Given the description of an element on the screen output the (x, y) to click on. 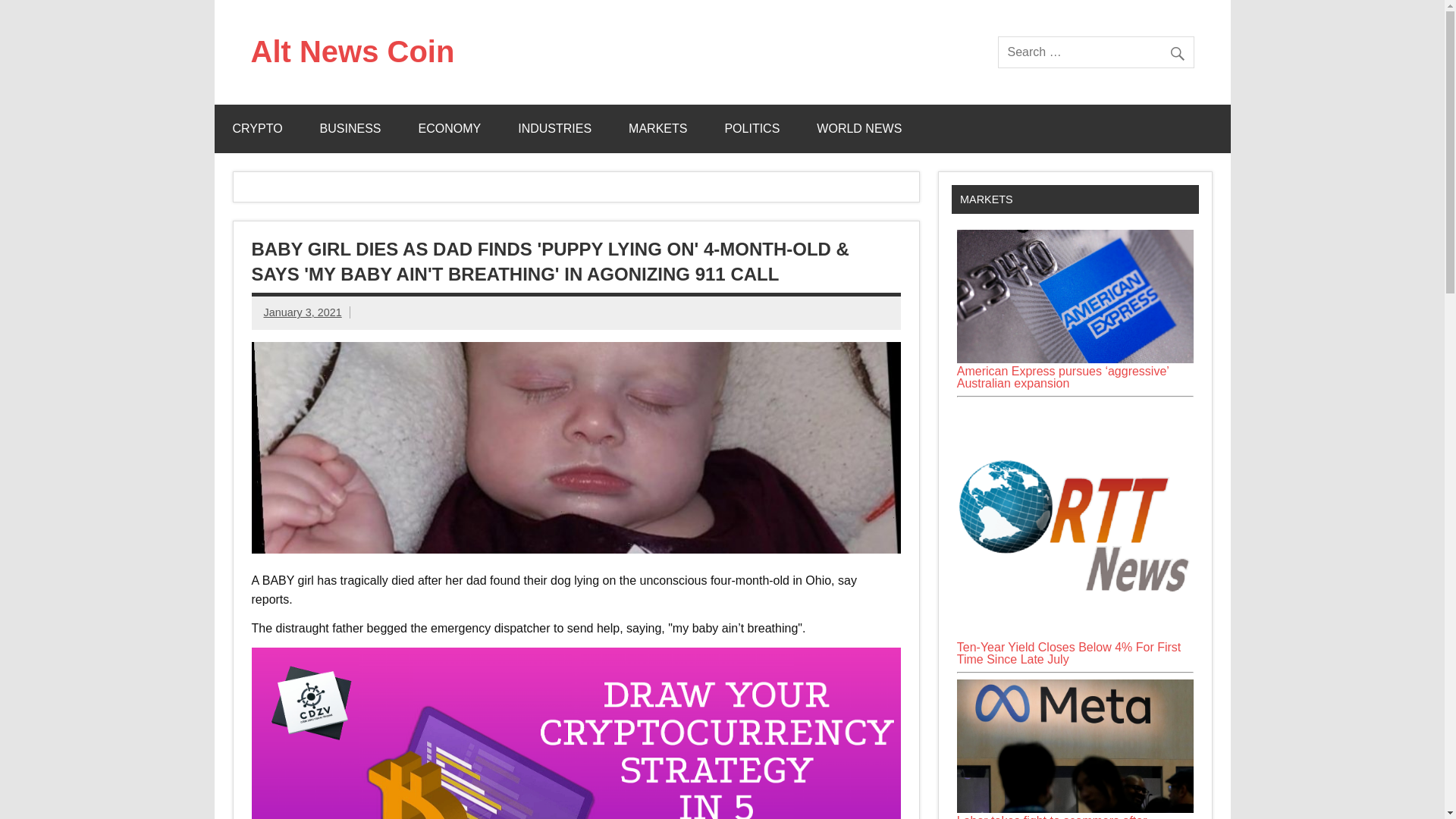
MARKETS (657, 128)
CRYPTO (256, 128)
Alt News Coin (352, 51)
WORLD NEWS (858, 128)
7:55 pm (302, 312)
ECONOMY (449, 128)
INDUSTRIES (554, 128)
January 3, 2021 (302, 312)
BUSINESS (349, 128)
POLITICS (751, 128)
